Given the description of an element on the screen output the (x, y) to click on. 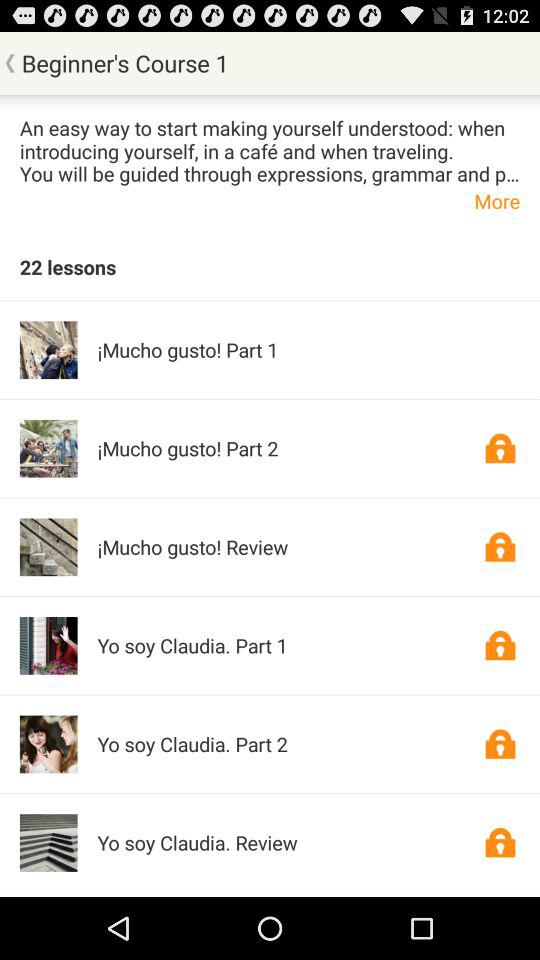
unlock (500, 448)
